Given the description of an element on the screen output the (x, y) to click on. 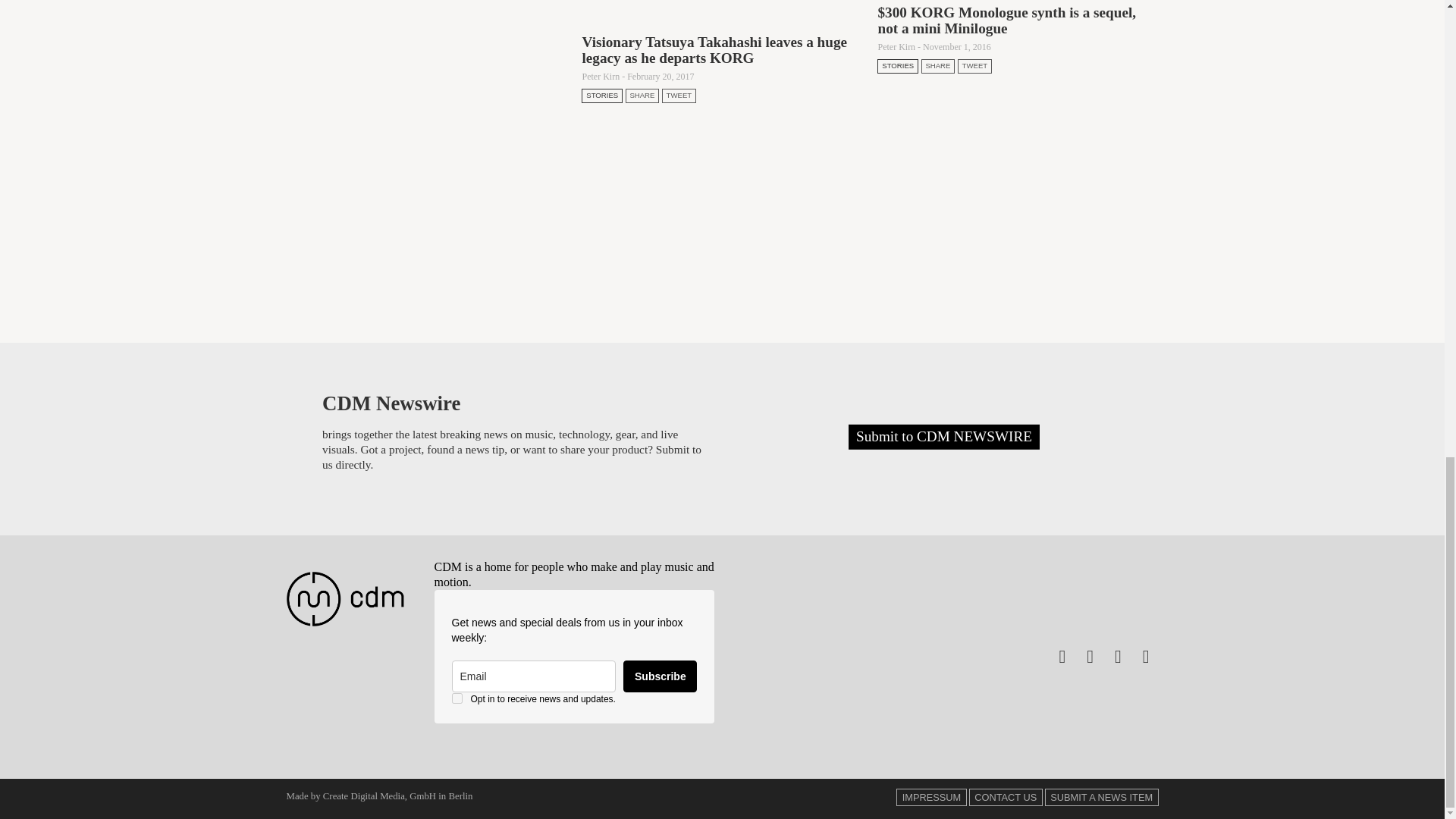
on (457, 697)
SHARE (642, 95)
STORIES (601, 95)
